Given the description of an element on the screen output the (x, y) to click on. 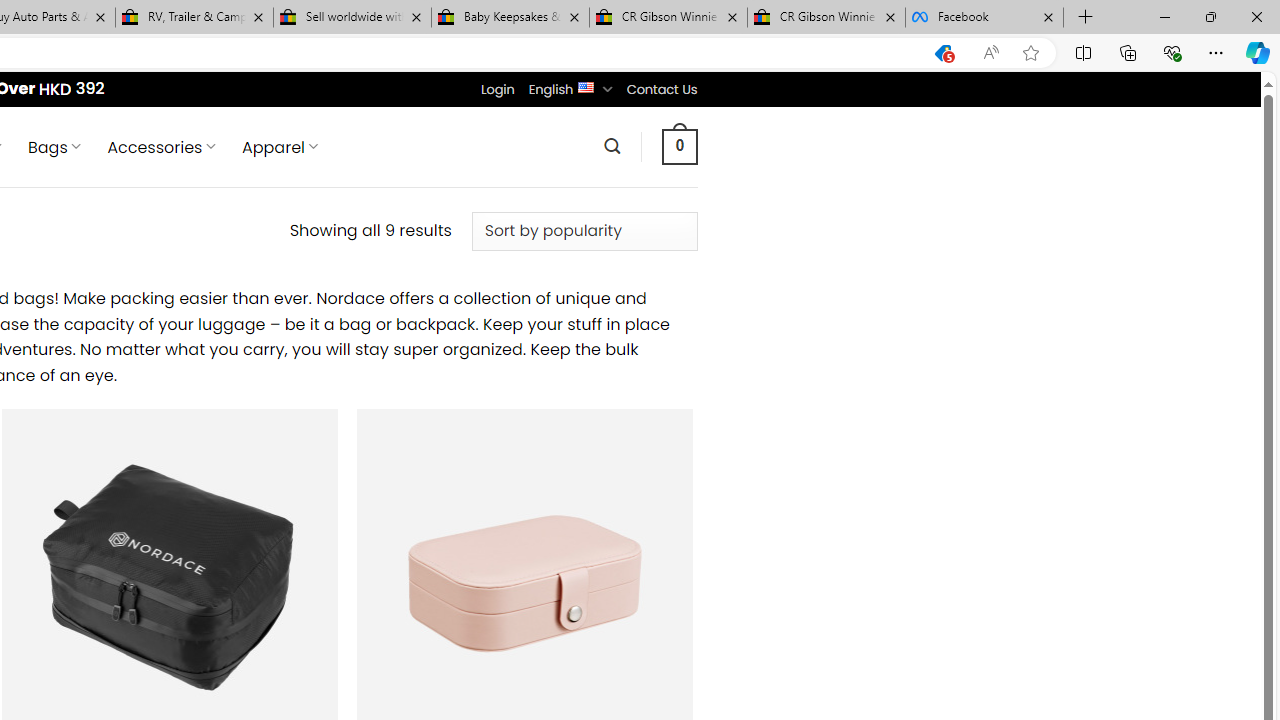
Settings and more (Alt+F) (1215, 52)
Restore (1210, 16)
This site has coupons! Shopping in Microsoft Edge, 5 (943, 53)
Sell worldwide with eBay (352, 17)
Browser essentials (1171, 52)
Collections (1128, 52)
Add this page to favorites (Ctrl+D) (1030, 53)
Contact Us (661, 89)
 0  (679, 146)
Read aloud this page (Ctrl+Shift+U) (991, 53)
Split screen (1083, 52)
